Given the description of an element on the screen output the (x, y) to click on. 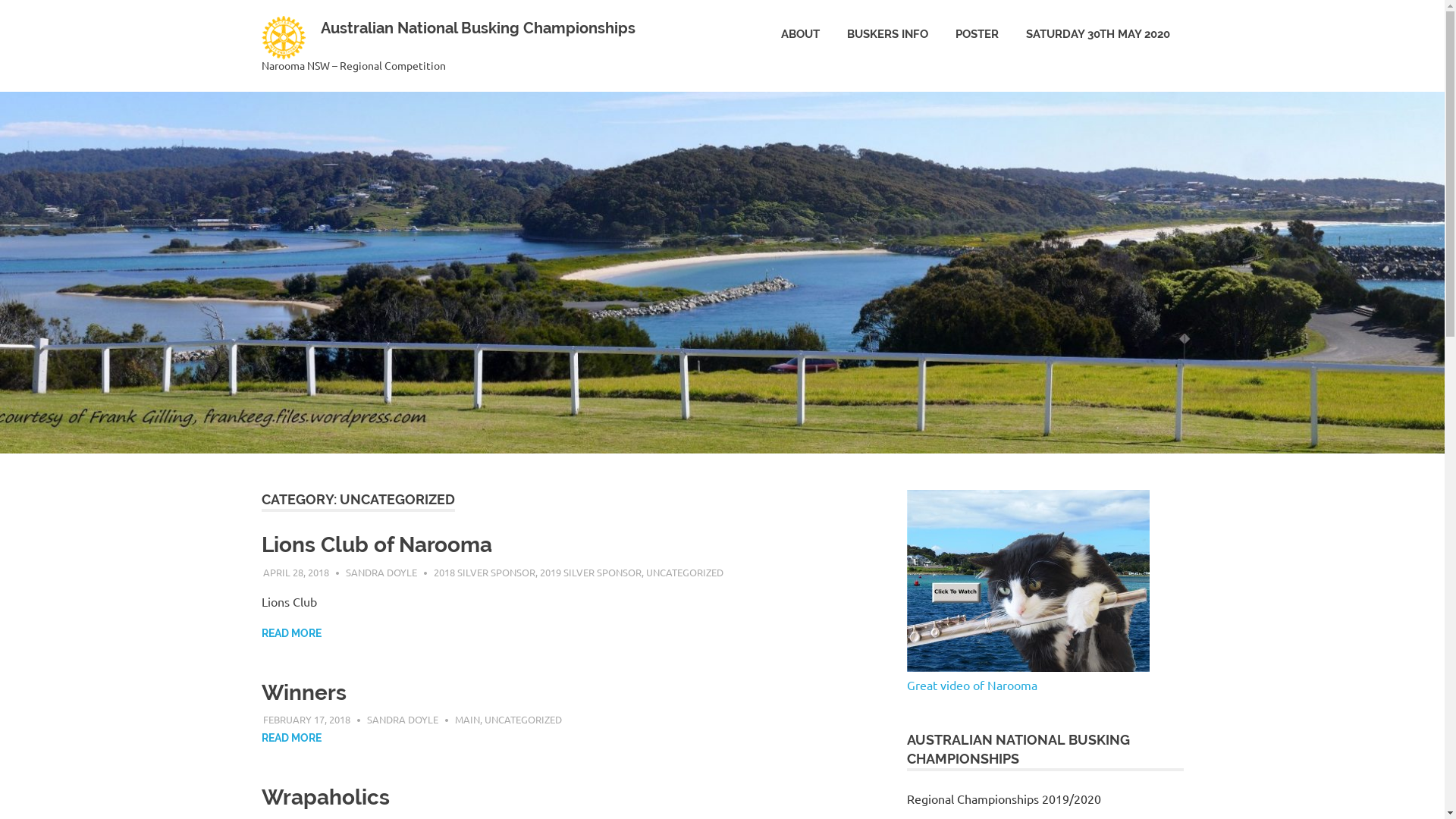
ABOUT Element type: text (800, 34)
UNCATEGORIZED Element type: text (522, 718)
SANDRA DOYLE Element type: text (381, 571)
  Great video of Narooma Element type: text (1029, 675)
2019 SILVER SPONSOR Element type: text (590, 571)
BUSKERS INFO Element type: text (886, 34)
MAIN Element type: text (467, 718)
UNCATEGORIZED Element type: text (684, 571)
POSTER Element type: text (976, 34)
SATURDAY 30TH MAY 2020 Element type: text (1097, 34)
Winners Element type: text (302, 692)
READ MORE Element type: text (290, 633)
FEBRUARY 17, 2018 Element type: text (306, 718)
Wrapaholics Element type: text (324, 796)
READ MORE Element type: text (290, 738)
SANDRA DOYLE Element type: text (402, 718)
Skip to content Element type: text (0, 0)
2018 SILVER SPONSOR Element type: text (484, 571)
APRIL 28, 2018 Element type: text (296, 571)
Lions Club of Narooma Element type: text (375, 544)
